Given the description of an element on the screen output the (x, y) to click on. 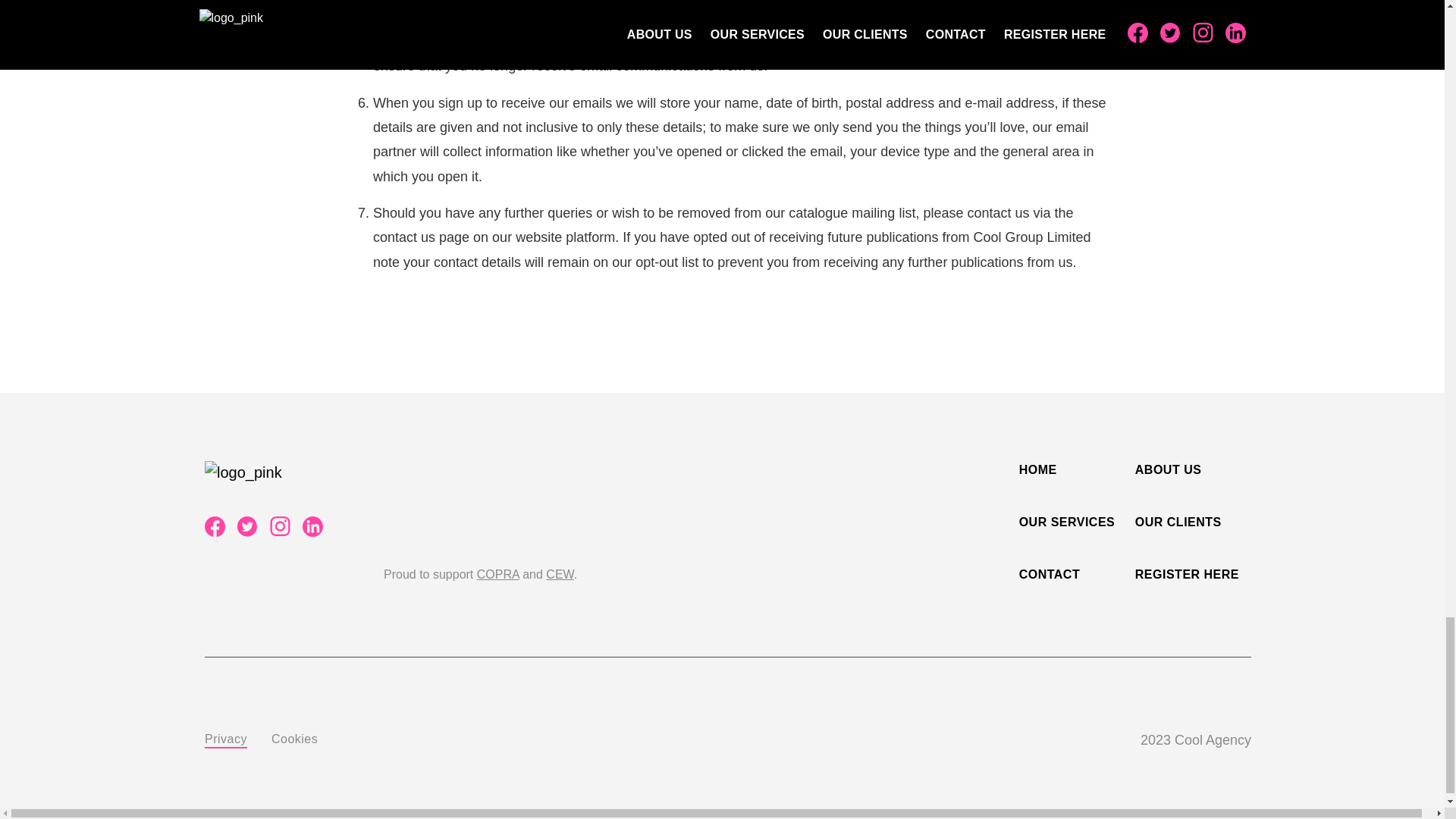
OUR CLIENTS (1178, 521)
Privacy (226, 738)
OUR SERVICES (1067, 521)
REGISTER HERE (1186, 574)
COPRA (498, 574)
HOME (1037, 469)
CONTACT (1049, 574)
Cookies (293, 738)
CEW (559, 574)
ABOUT US (1168, 469)
